Given the description of an element on the screen output the (x, y) to click on. 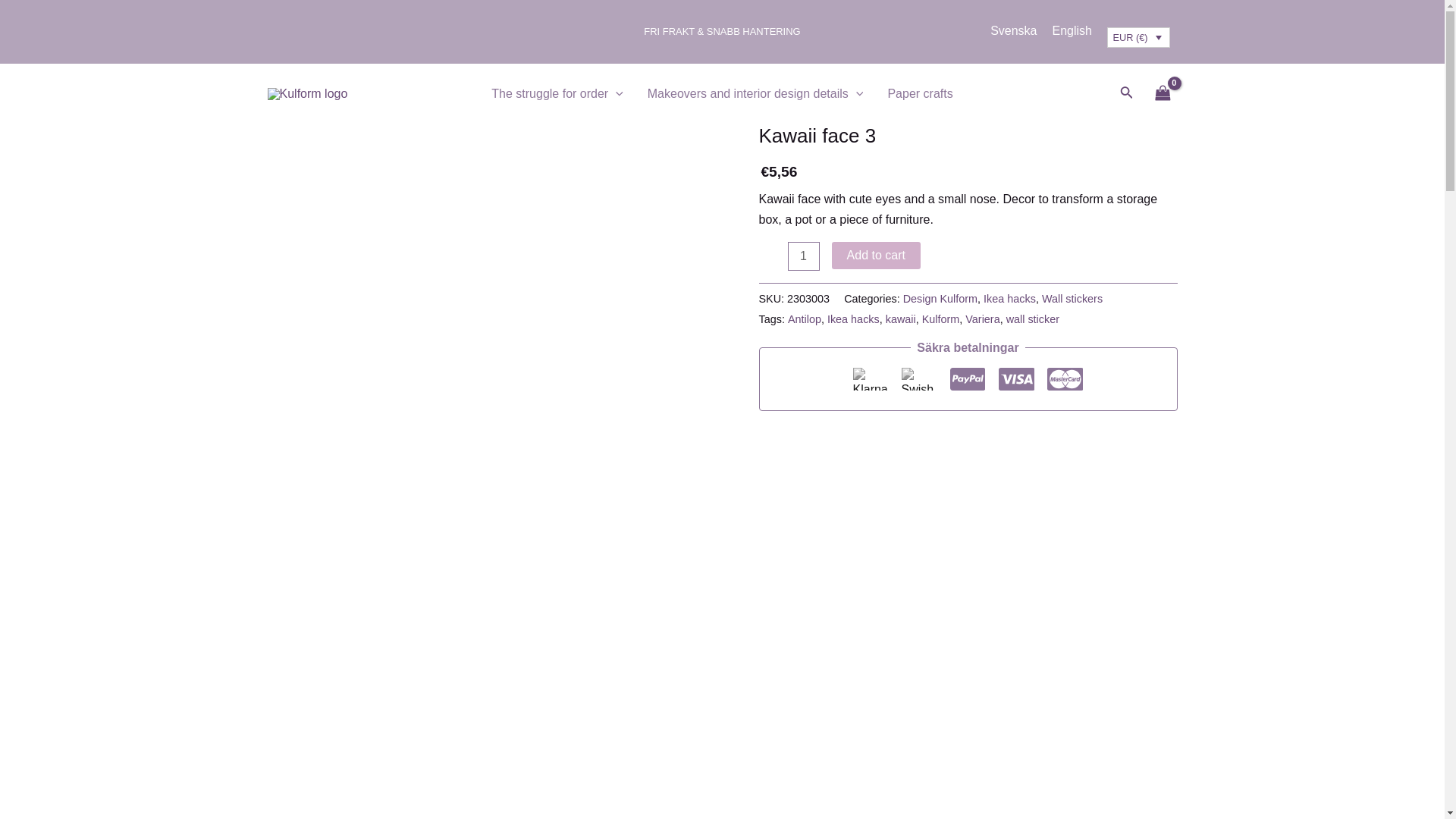
kawaii (900, 318)
Search (40, 15)
Wall stickers (1072, 298)
The struggle for order (556, 93)
Svenska (1013, 30)
Paper crafts (919, 93)
Ikea hacks (853, 318)
Add to cart (875, 255)
English (1072, 30)
Design Kulform (939, 298)
